Given the description of an element on the screen output the (x, y) to click on. 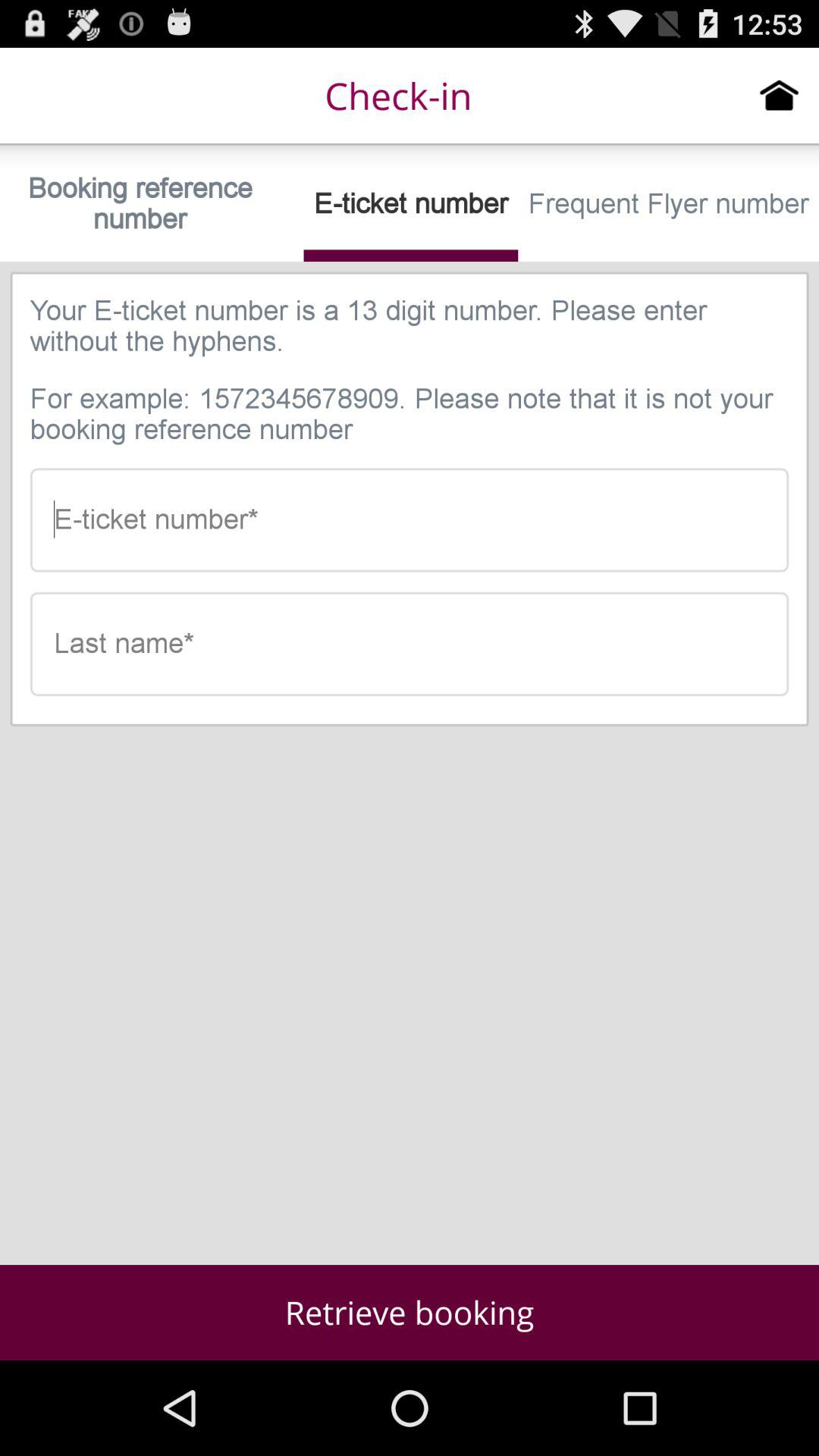
text box (409, 643)
